Given the description of an element on the screen output the (x, y) to click on. 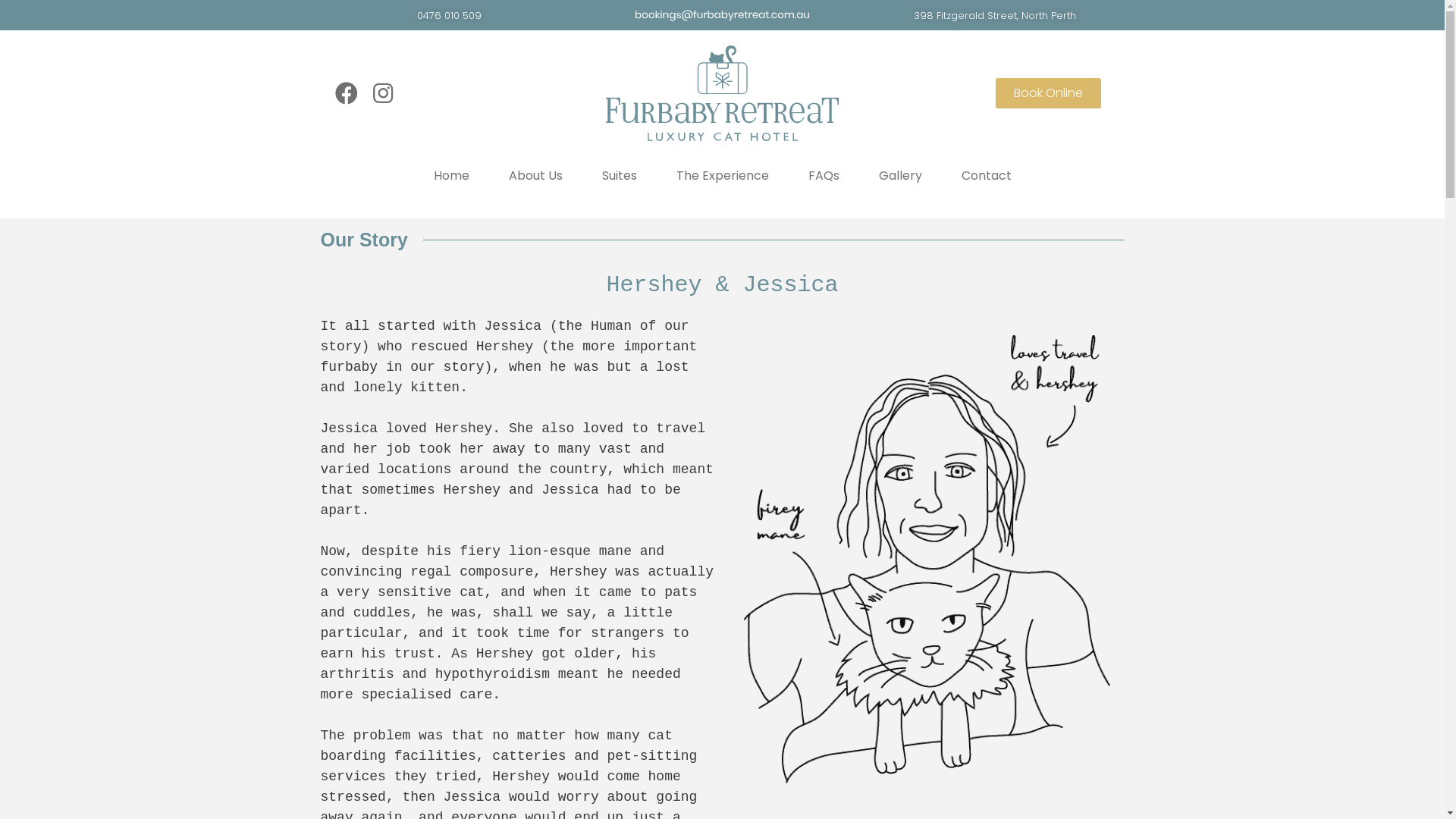
Contact Element type: text (986, 175)
About Us Element type: text (534, 175)
Suites Element type: text (619, 175)
Book Online Element type: text (1048, 93)
Home Element type: text (451, 175)
Gallery Element type: text (899, 175)
The Experience Element type: text (722, 175)
FAQs Element type: text (823, 175)
